Given the description of an element on the screen output the (x, y) to click on. 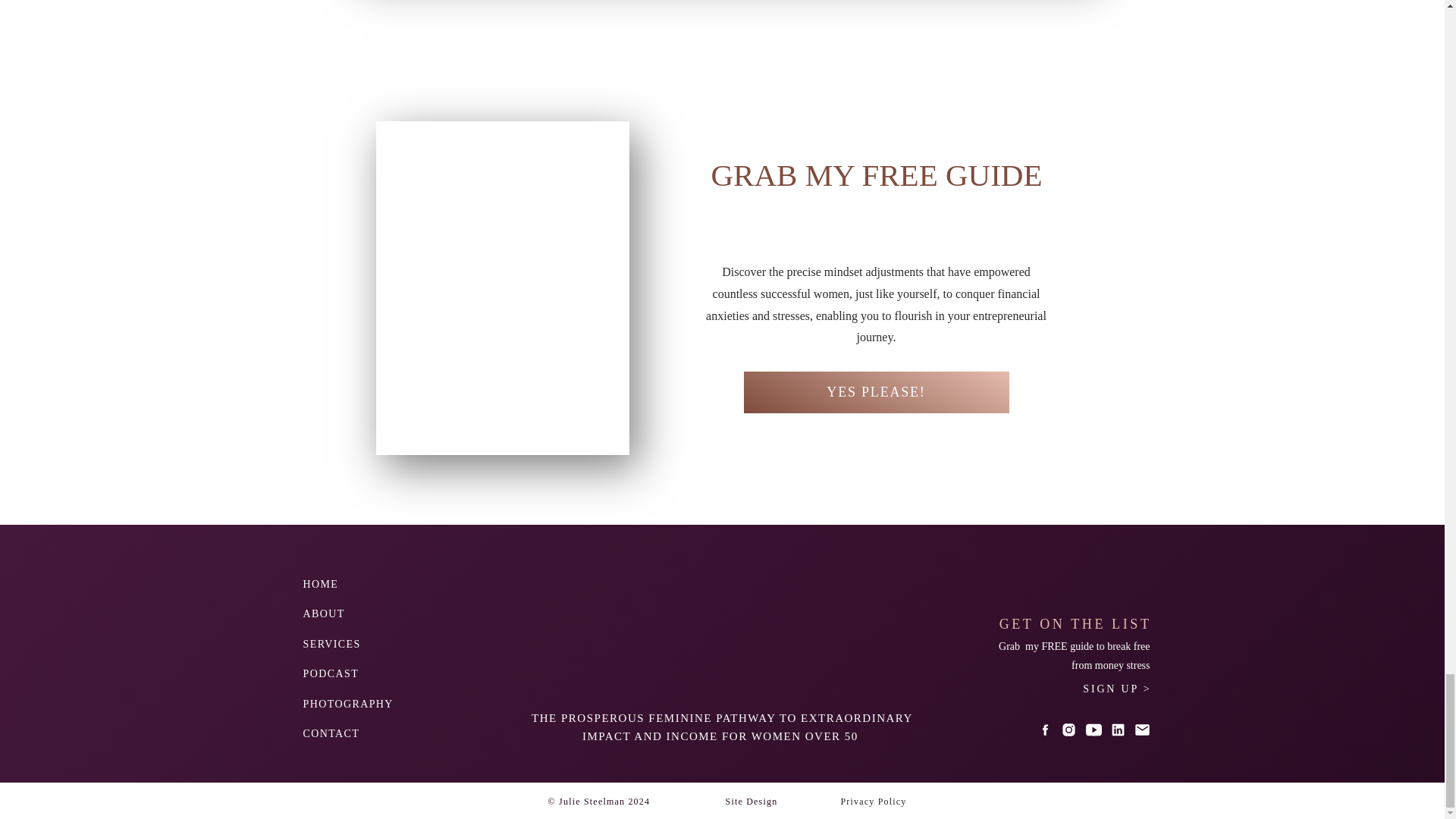
YES PLEASE! (875, 392)
CONTACT (354, 730)
Site Design (751, 800)
PODCAST (342, 671)
PHOTOGRAPHY (354, 701)
SERVICES (342, 641)
ABOUT (342, 611)
Privacy Policy (872, 800)
HOME (342, 581)
